Given the description of an element on the screen output the (x, y) to click on. 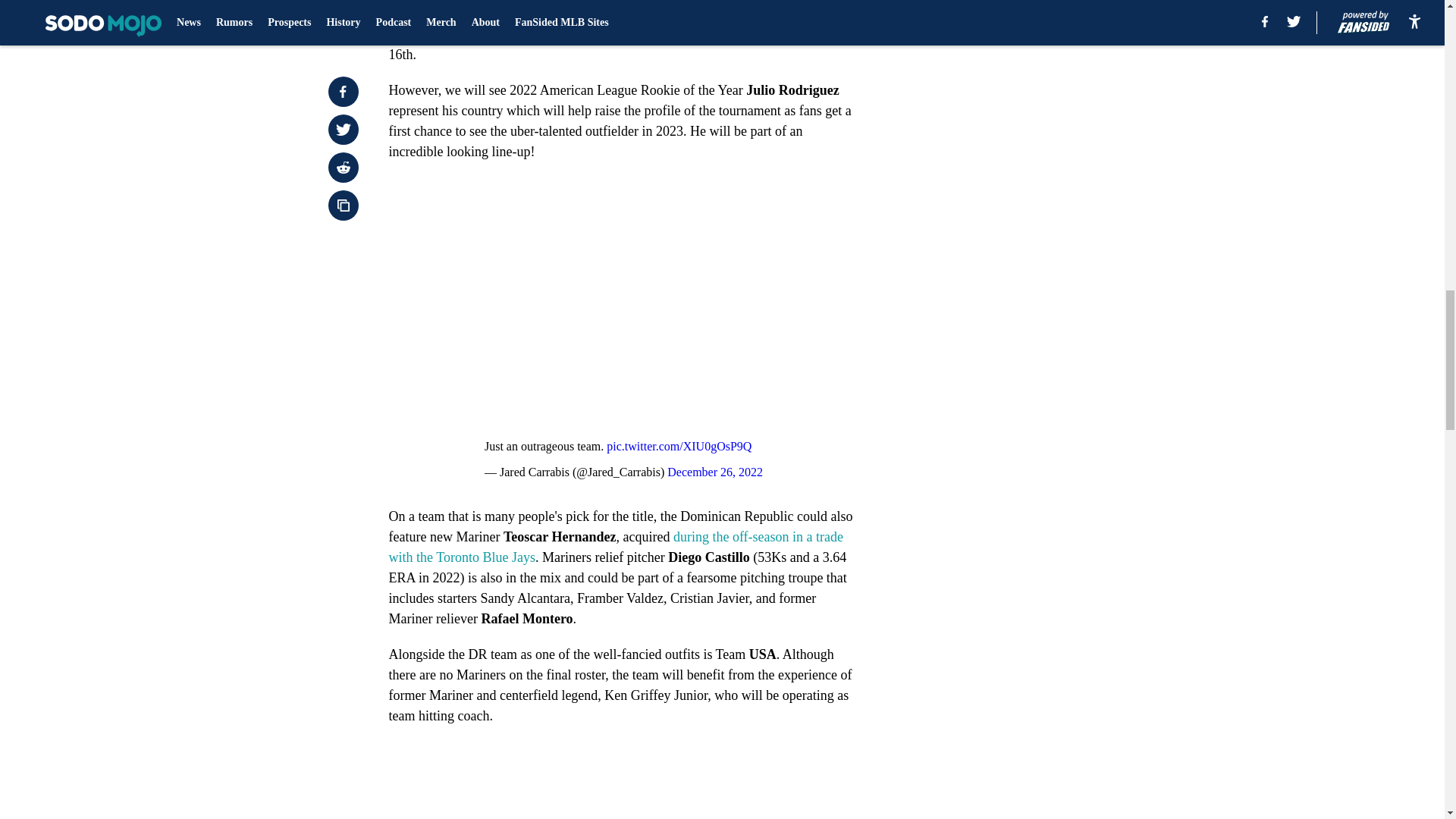
during the off-season in a trade with the Toronto Blue Jays (615, 547)
December 26, 2022 (714, 472)
